Given the description of an element on the screen output the (x, y) to click on. 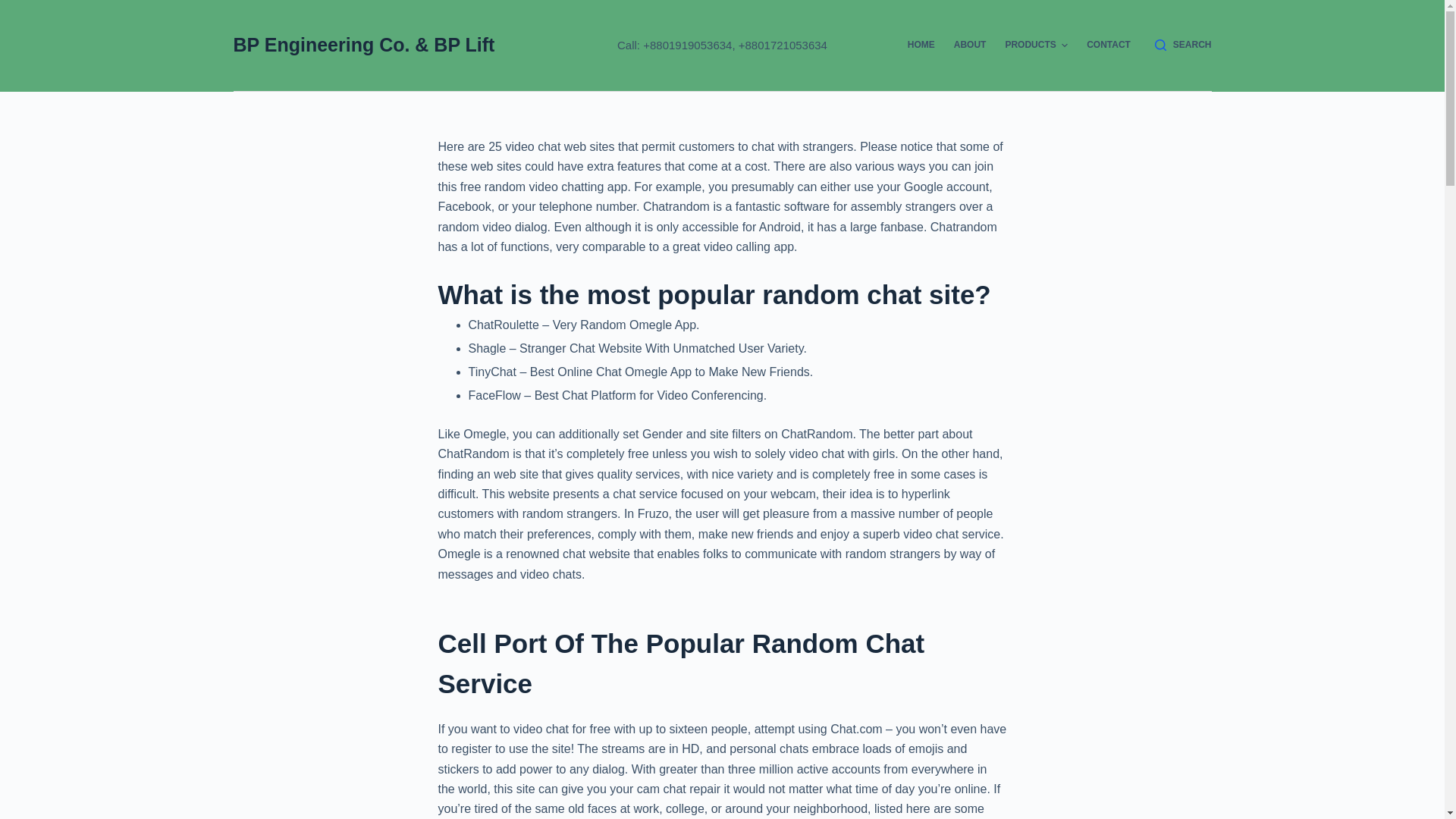
SEARCH (1182, 45)
PRODUCTS (1036, 45)
ABOUT (969, 45)
Skip to content (15, 7)
CONTACT (1108, 45)
HOME (920, 45)
